Given the description of an element on the screen output the (x, y) to click on. 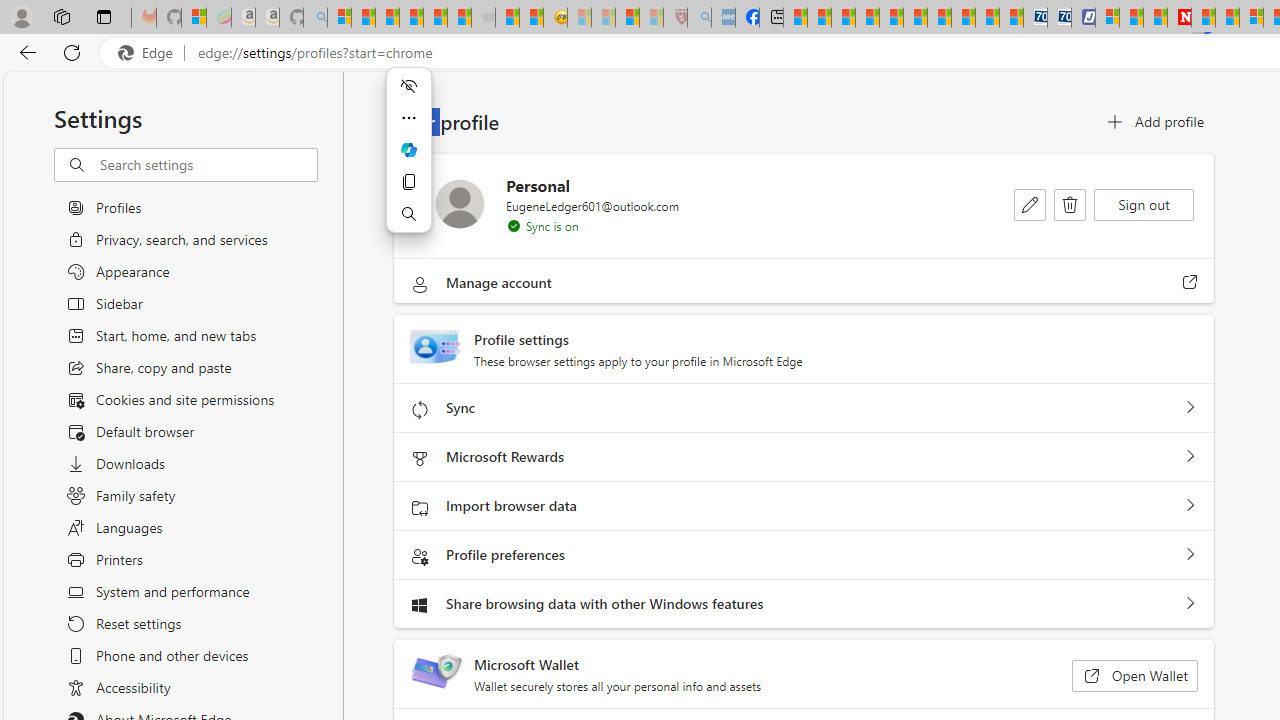
Sign out (1144, 204)
The Weather Channel - MSN (387, 17)
World - MSN (843, 17)
list of asthma inhalers uk - Search - Sleeping (698, 17)
Climate Damage Becomes Too Severe To Reverse (867, 17)
14 Common Myths Debunked By Scientific Facts (1227, 17)
Profile preferences (1190, 555)
